Given the description of an element on the screen output the (x, y) to click on. 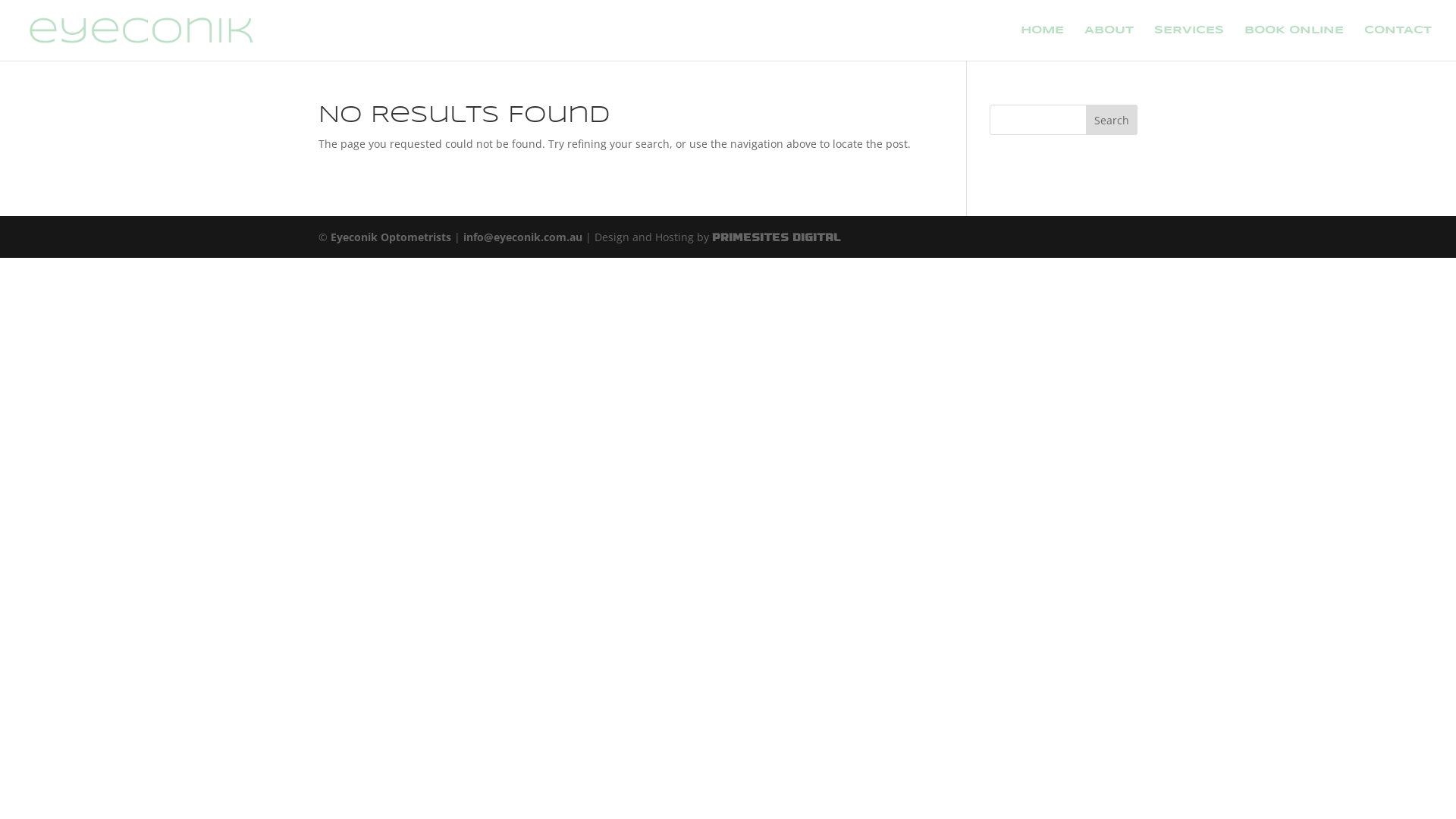
CONTACT Element type: text (1397, 42)
SERVICES Element type: text (1188, 42)
info@eyeconik.com.au Element type: text (522, 236)
Eyeconik Optometrists Element type: text (390, 236)
ABOUT Element type: text (1108, 42)
Search Element type: text (1111, 119)
PrimeSites Digital Element type: text (776, 236)
HOME Element type: text (1041, 42)
BOOK ONLINE Element type: text (1293, 42)
